Given the description of an element on the screen output the (x, y) to click on. 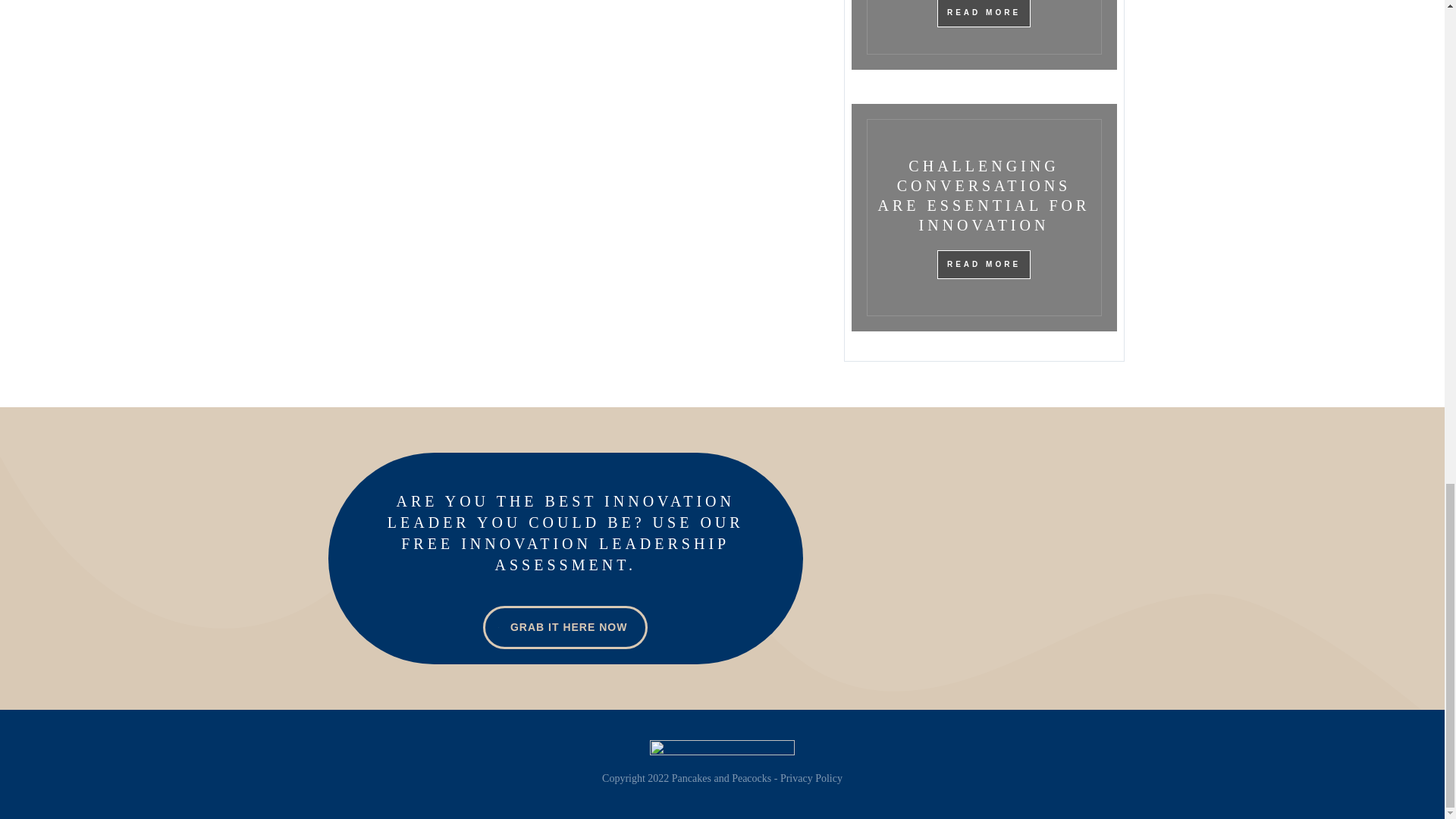
Challenging conversations are essential for innovation (983, 195)
CHALLENGING CONVERSATIONS ARE ESSENTIAL FOR INNOVATION (983, 195)
READ MORE (983, 13)
GRAB IT HERE NOW (565, 627)
READ MORE (983, 264)
Privacy Policy (811, 778)
